Given the description of an element on the screen output the (x, y) to click on. 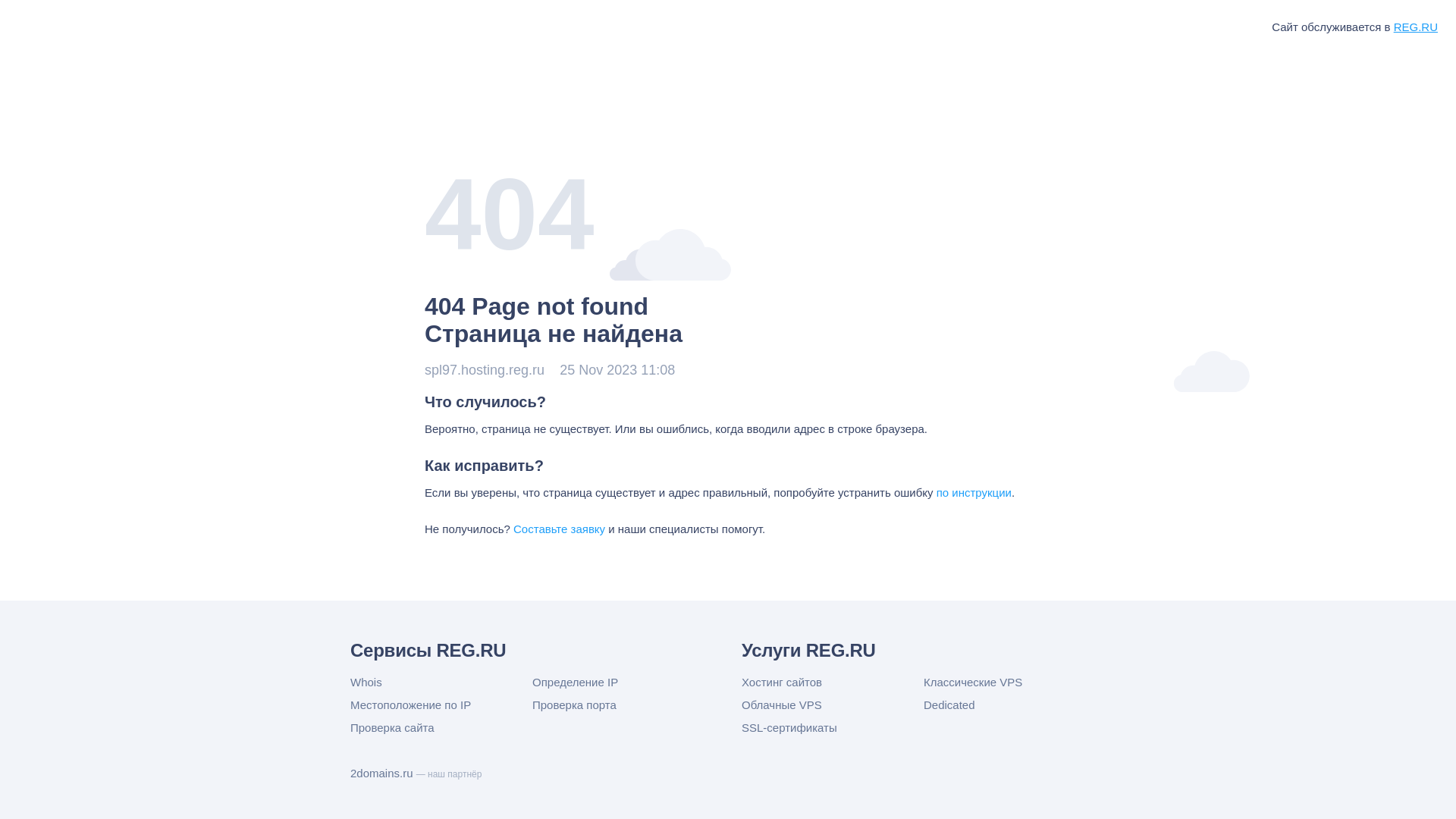
Dedicated Element type: text (1014, 705)
REG.RU Element type: text (1415, 26)
Whois Element type: text (441, 682)
2domains.ru Element type: text (383, 772)
